Given the description of an element on the screen output the (x, y) to click on. 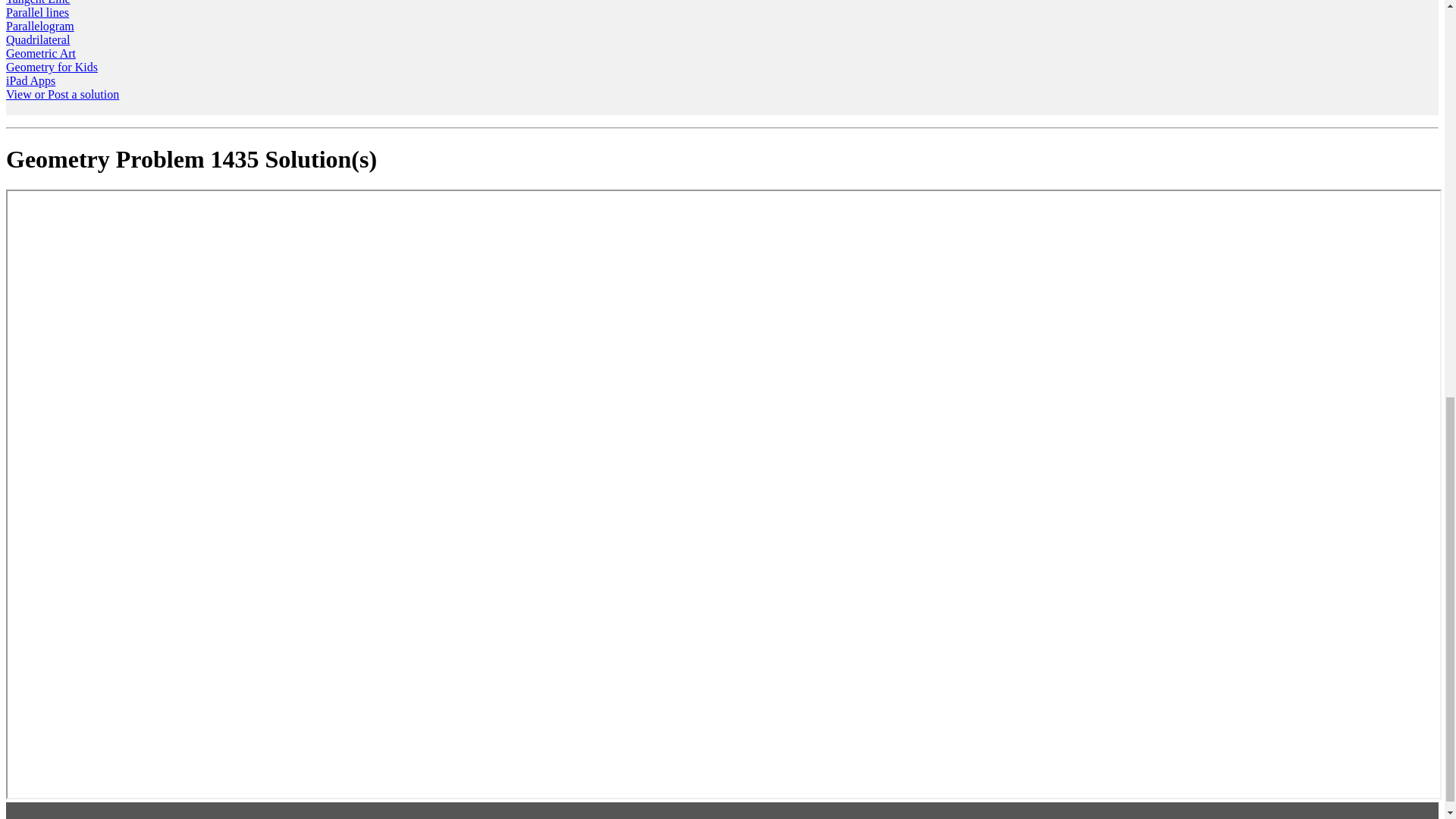
Parallel lines (36, 11)
Parallelogram (39, 25)
Quadrilateral (37, 39)
Geometric Art (40, 52)
Tangent Line (37, 2)
Geometry for Kids (51, 66)
iPad Apps (30, 80)
View or Post a solution (62, 93)
